Given the description of an element on the screen output the (x, y) to click on. 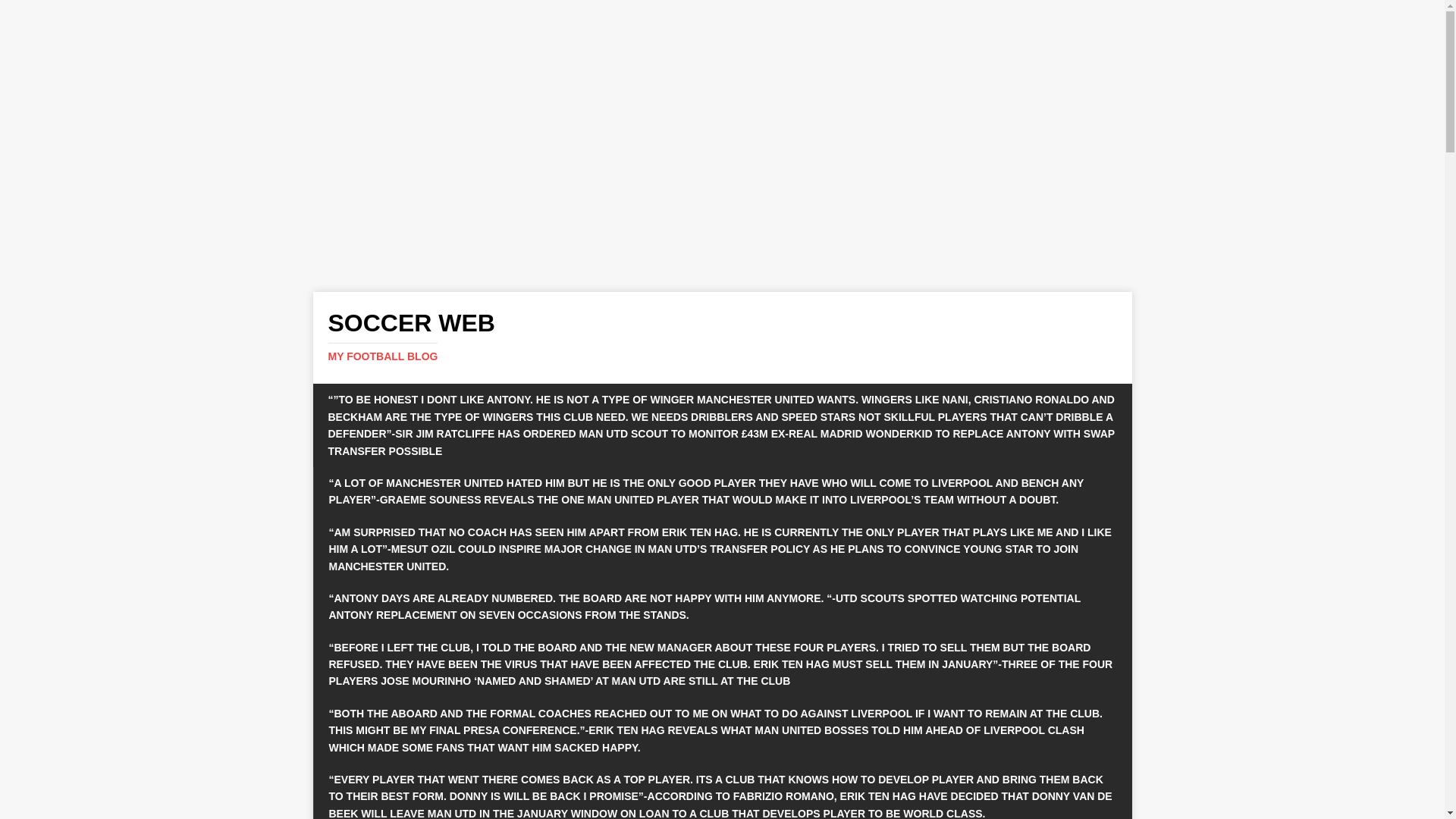
Soccer Web (721, 336)
